Given the description of an element on the screen output the (x, y) to click on. 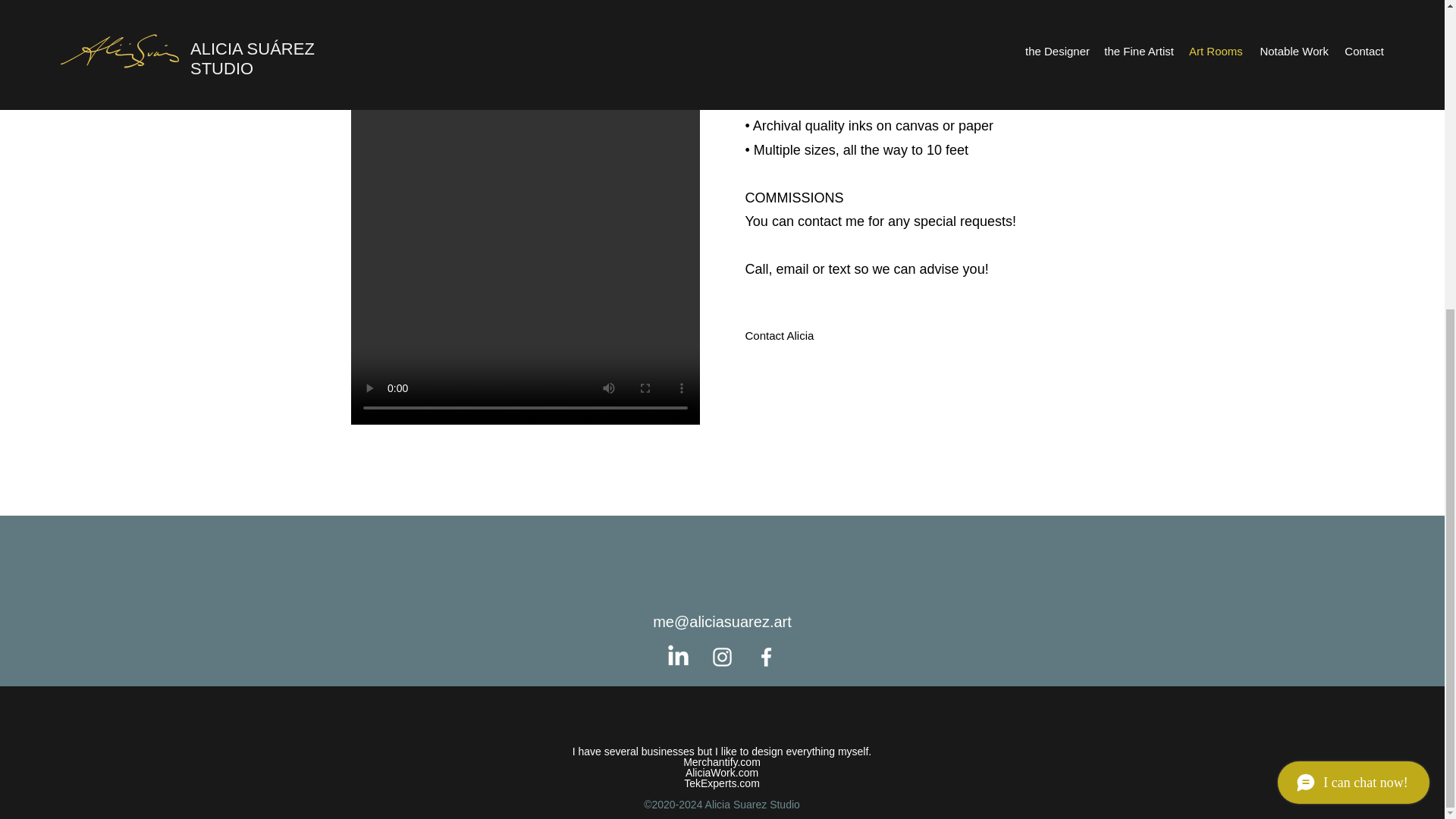
Contact Alicia (779, 335)
TekExperts.com (722, 783)
Merchantify.com (721, 761)
AliciaWork.com (721, 772)
